Given the description of an element on the screen output the (x, y) to click on. 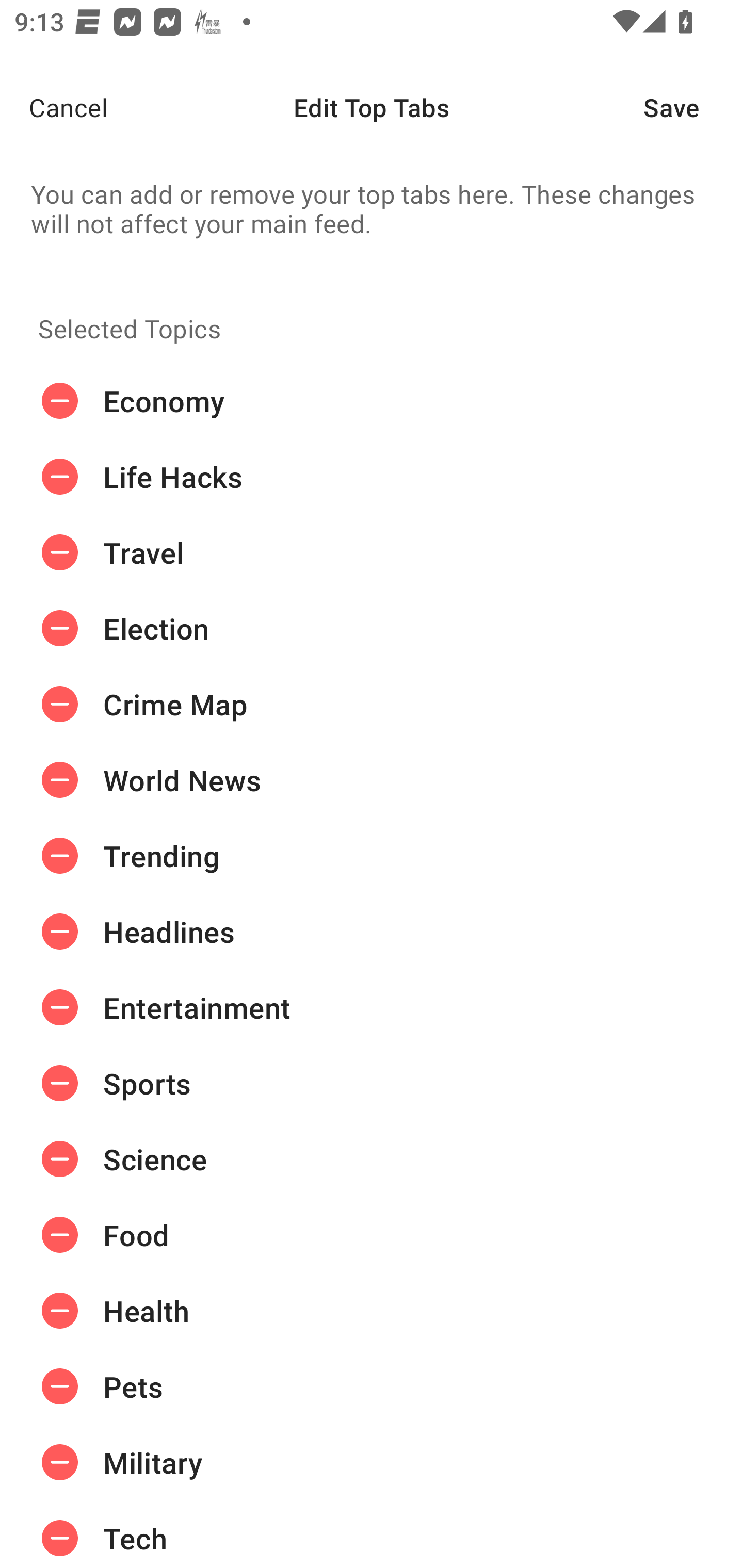
Cancel (53, 106)
Save (693, 106)
Economy (371, 401)
Life Hacks (371, 476)
Travel (371, 552)
Election (371, 628)
Crime Map (371, 703)
World News (371, 779)
Trending (371, 855)
Headlines (371, 931)
Entertainment (371, 1007)
Sports (371, 1083)
Science (371, 1158)
Food (371, 1234)
Health (371, 1310)
Pets (371, 1386)
Military (371, 1462)
Tech (371, 1534)
